Given the description of an element on the screen output the (x, y) to click on. 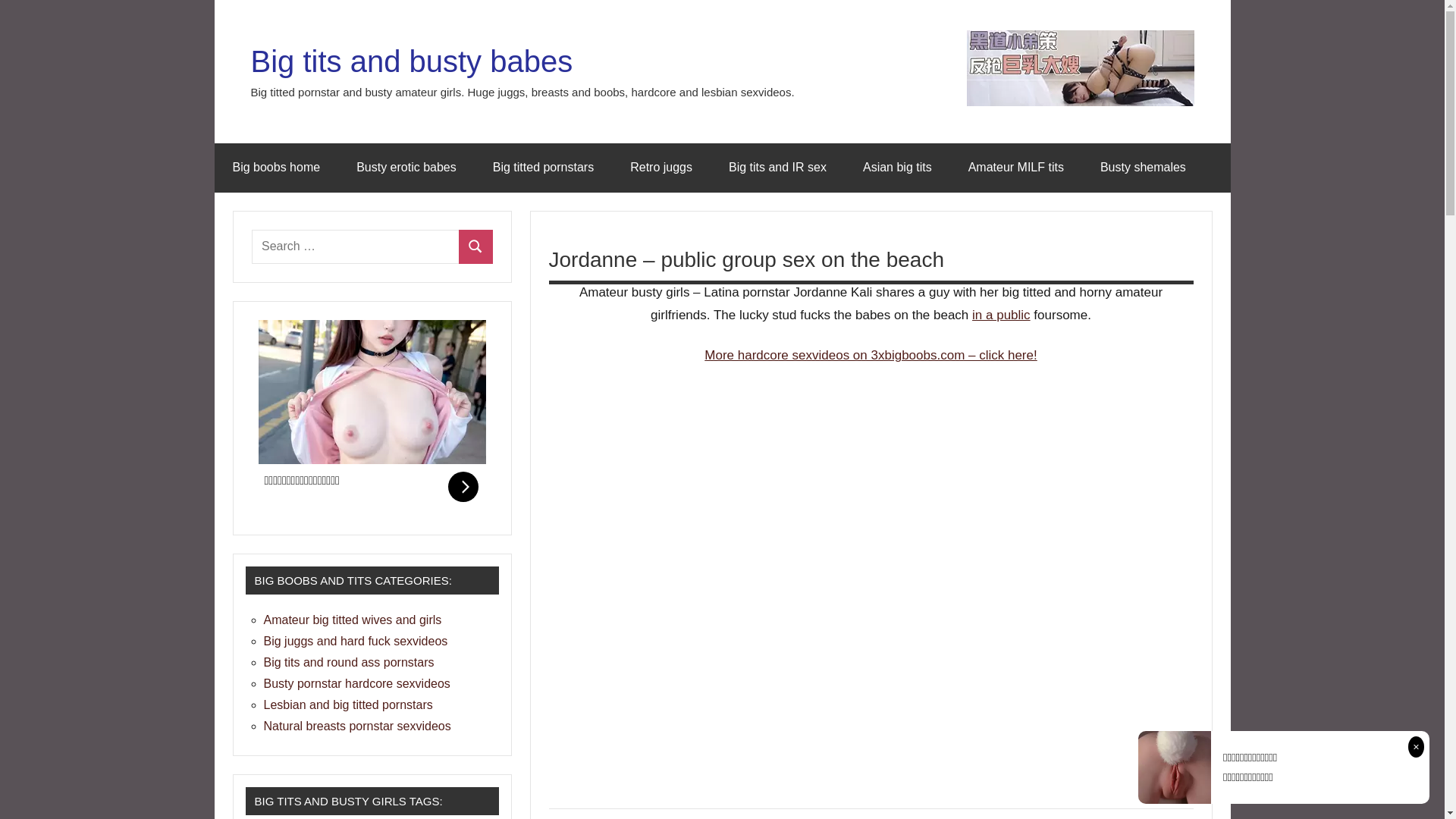
Natural breasts pornstar sexvideos Element type: text (357, 725)
Busty pornstar hardcore sexvideos Element type: text (356, 683)
Retro juggs Element type: text (660, 167)
Search for: Element type: hover (355, 246)
Big juggs and hard fuck sexvideos Element type: text (355, 640)
Big titted pornstars Element type: text (542, 167)
Amateur MILF tits Element type: text (1016, 167)
Big tits and round ass pornstars Element type: text (348, 661)
Asian big tits Element type: text (897, 167)
Big boobs home Element type: text (275, 167)
Search Element type: text (475, 246)
Big tits and busty babes Element type: text (411, 61)
Amateur big titted wives and girls Element type: text (352, 619)
Busty erotic babes Element type: text (406, 167)
in a public Element type: text (1001, 314)
Busty shemales Element type: text (1143, 167)
Lesbian and big titted pornstars Element type: text (348, 704)
Big tits and IR sex Element type: text (777, 167)
